Given the description of an element on the screen output the (x, y) to click on. 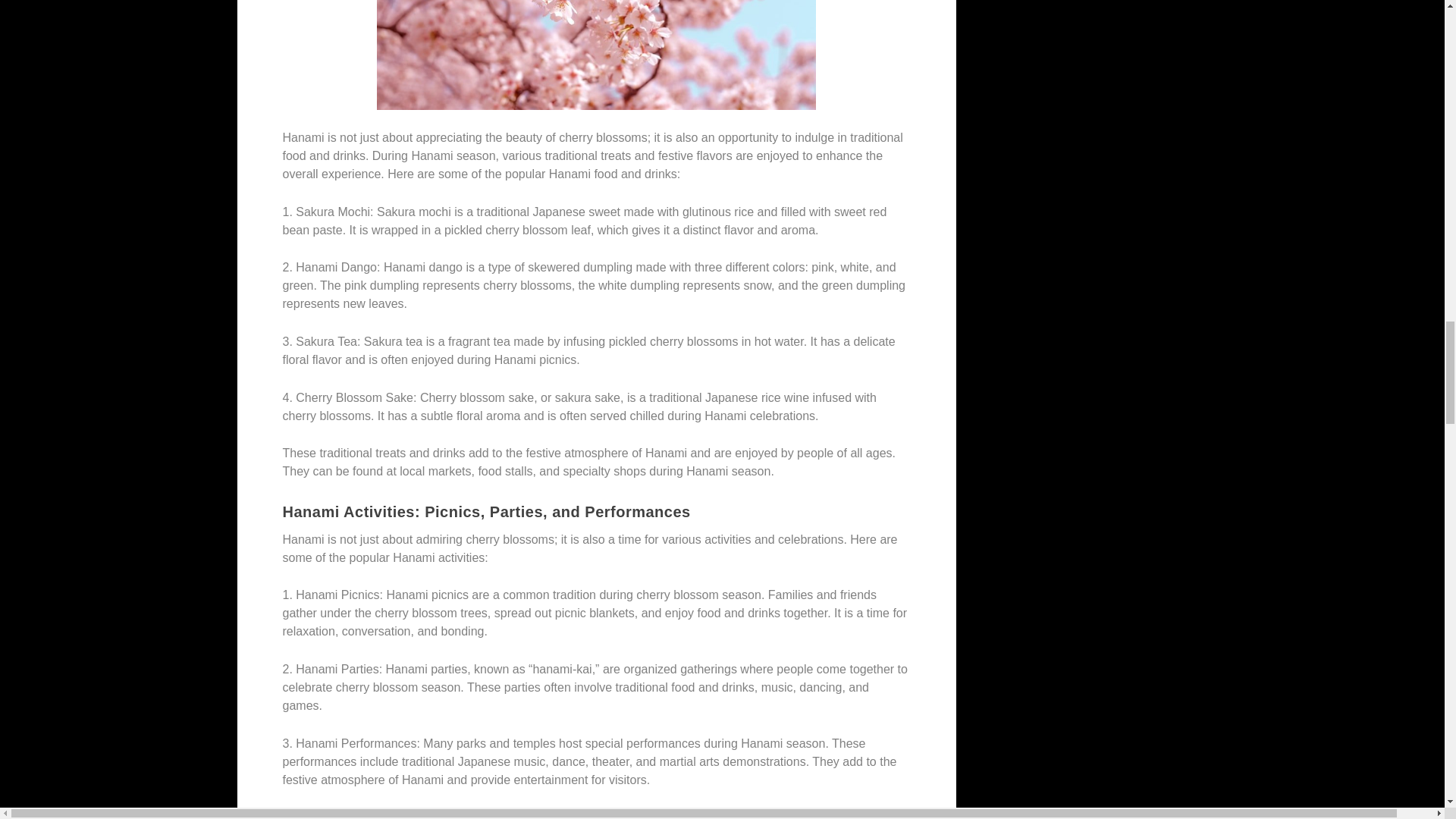
What is hanami in Japanese? 1 (596, 54)
